Given the description of an element on the screen output the (x, y) to click on. 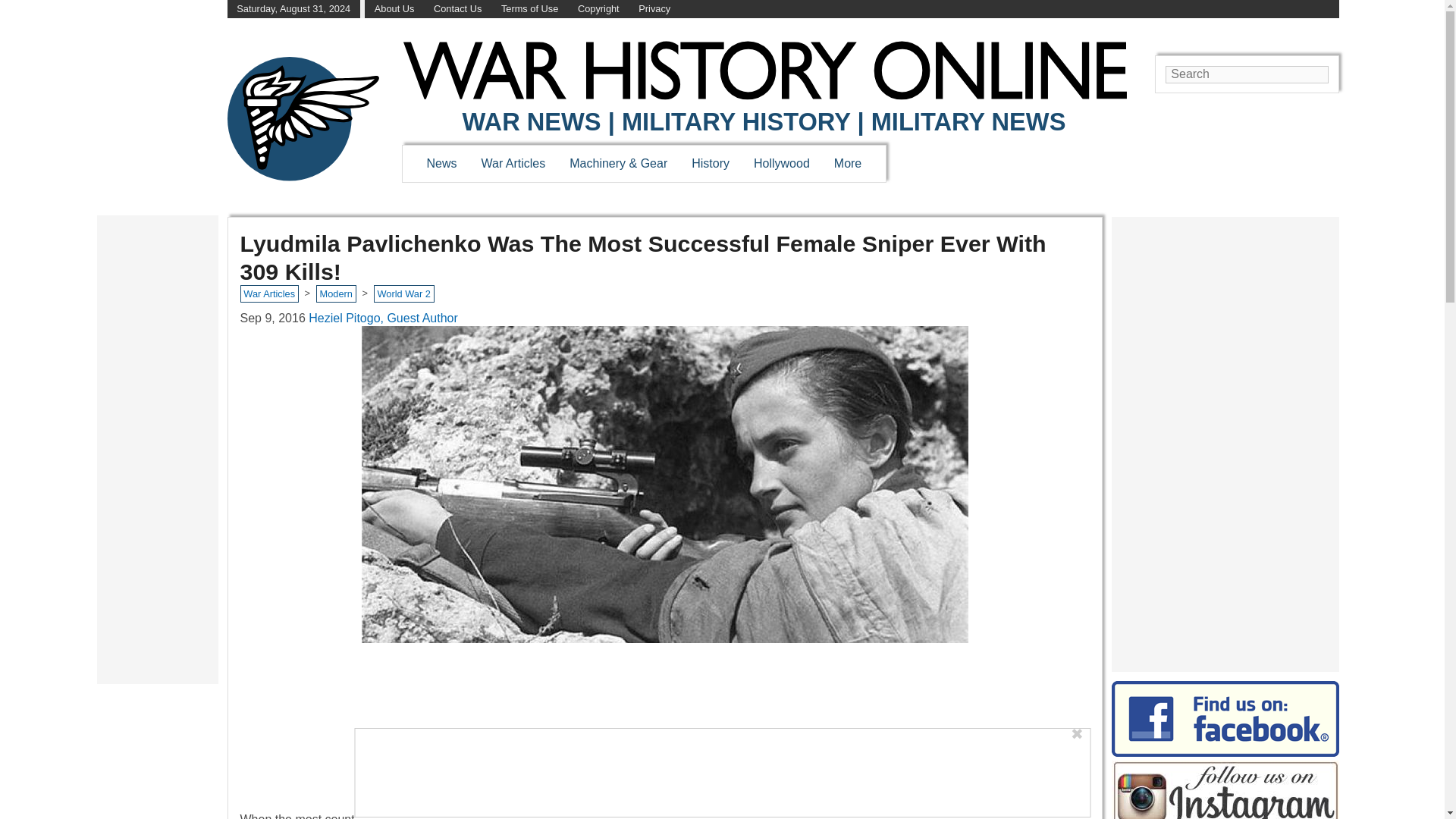
History (710, 163)
More (847, 163)
Hollywood (781, 163)
Contact Us (457, 8)
Privacy (654, 8)
News (441, 163)
Copyright (599, 8)
War Articles (513, 163)
About Us (394, 8)
Terms of Use (528, 8)
